Given the description of an element on the screen output the (x, y) to click on. 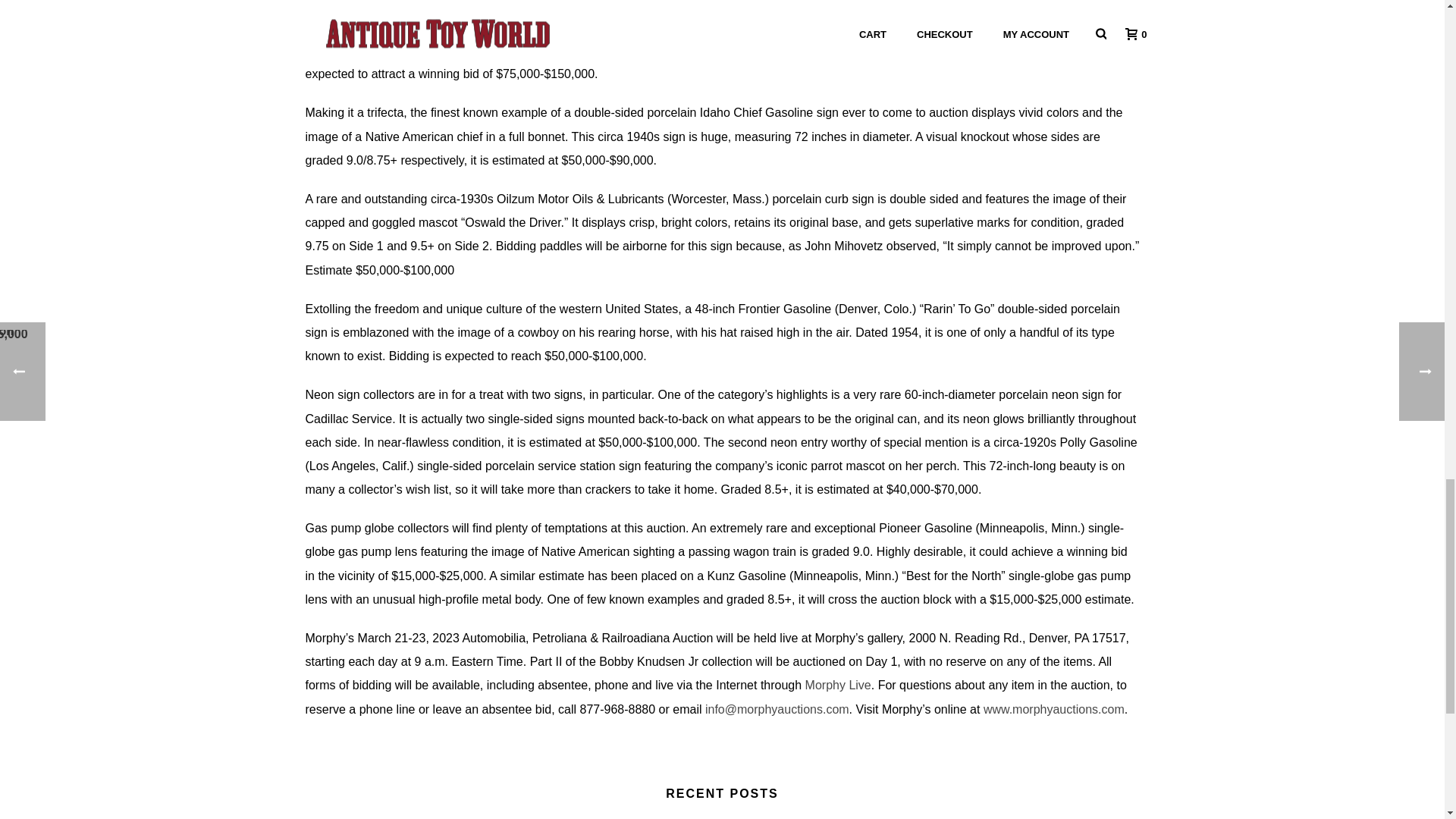
www.morphyauctions.com (1054, 708)
Morphy Live (837, 684)
